Given the description of an element on the screen output the (x, y) to click on. 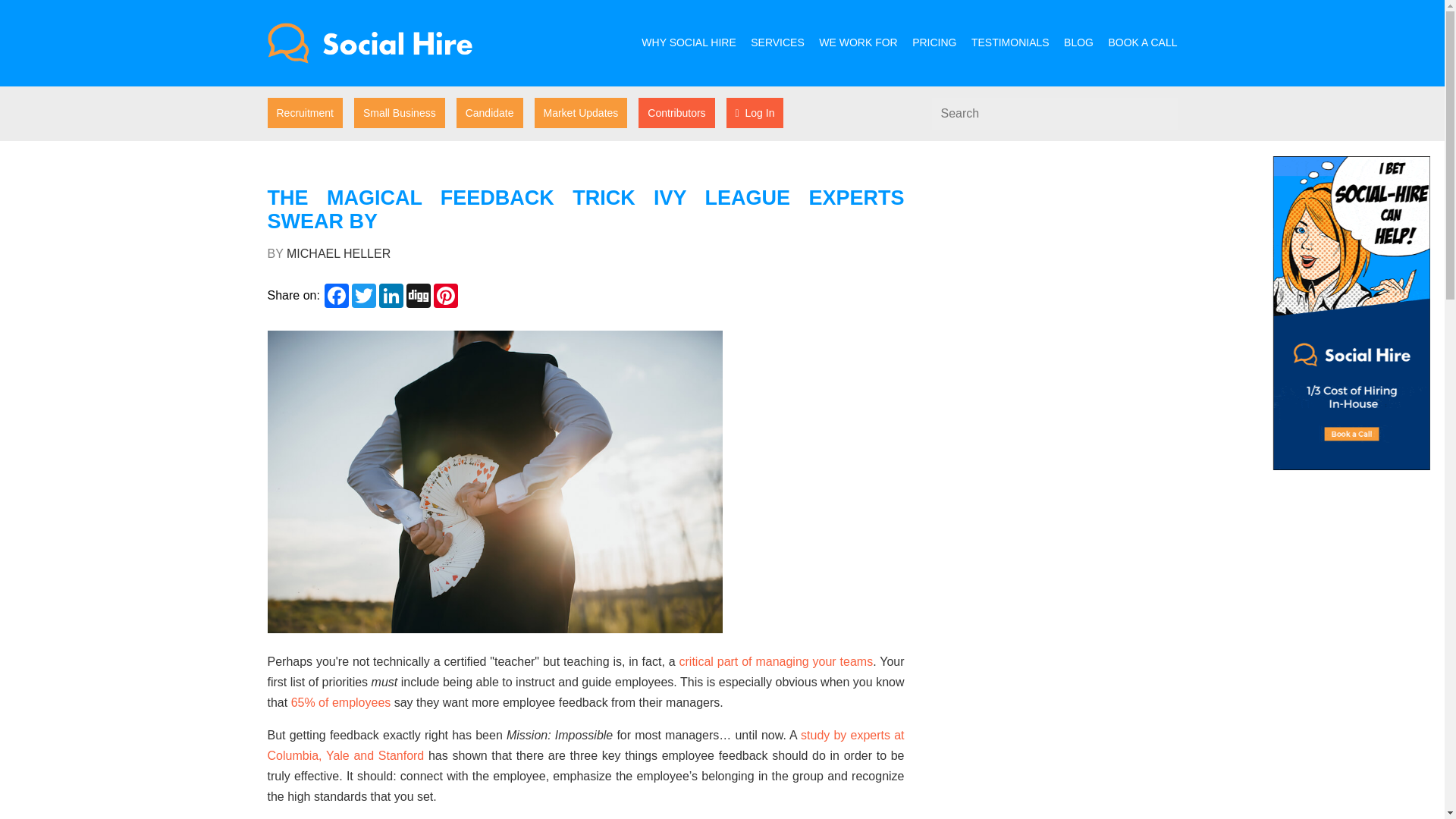
BOOK A CALL (1142, 42)
PRICING (934, 42)
TESTIMONIALS (1010, 42)
WE WORK FOR (857, 42)
BLOG (1078, 42)
WHY SOCIAL HIRE (688, 42)
SERVICES (778, 42)
